Given the description of an element on the screen output the (x, y) to click on. 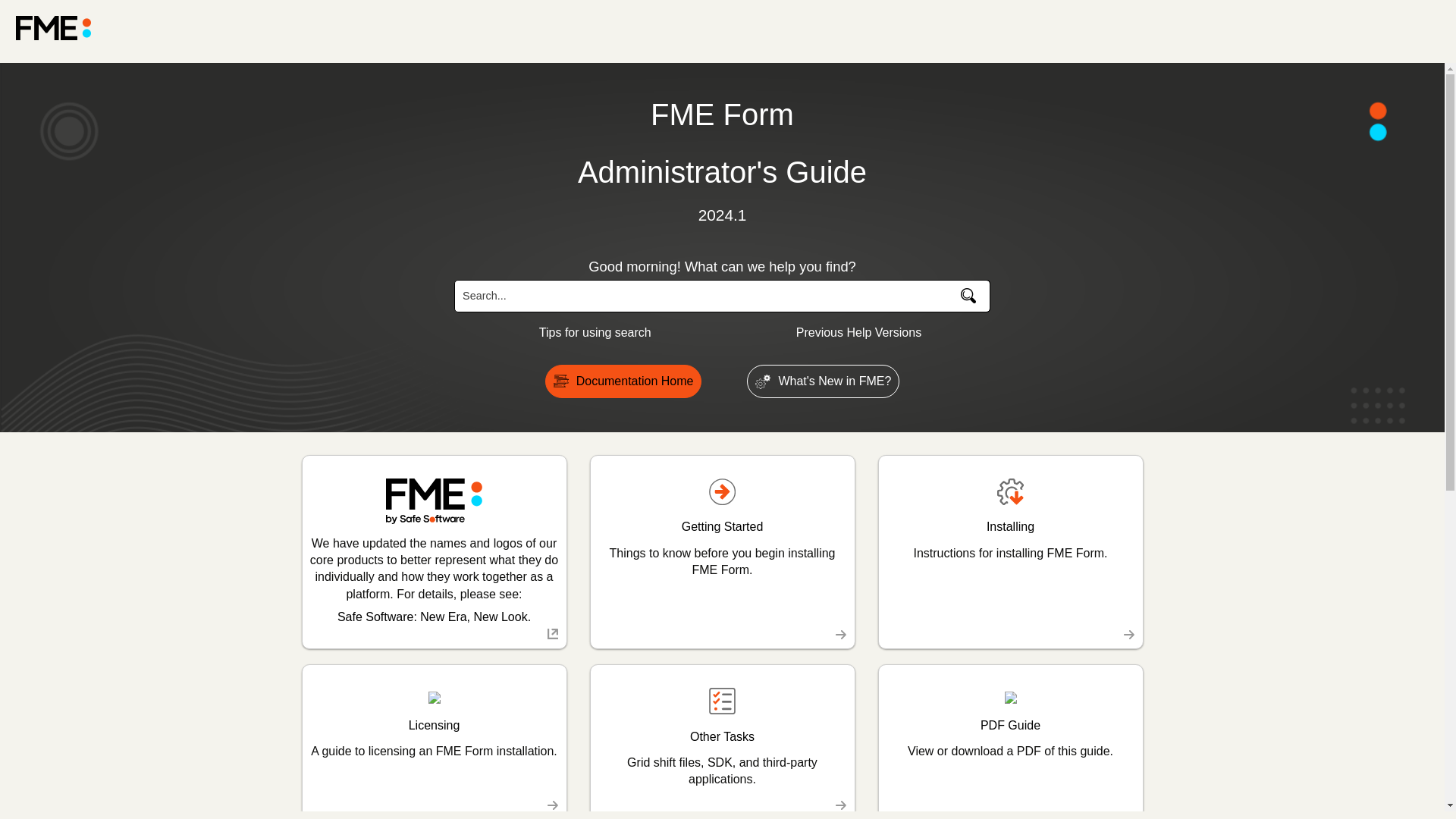
Documentation Home (622, 381)
Opens a PDF version of the guide. (1009, 740)
Previous Help Versions (850, 332)
Opens help home page. (53, 27)
Tips for using search (1009, 552)
Search (586, 332)
What's New in FME? (968, 296)
